Given the description of an element on the screen output the (x, y) to click on. 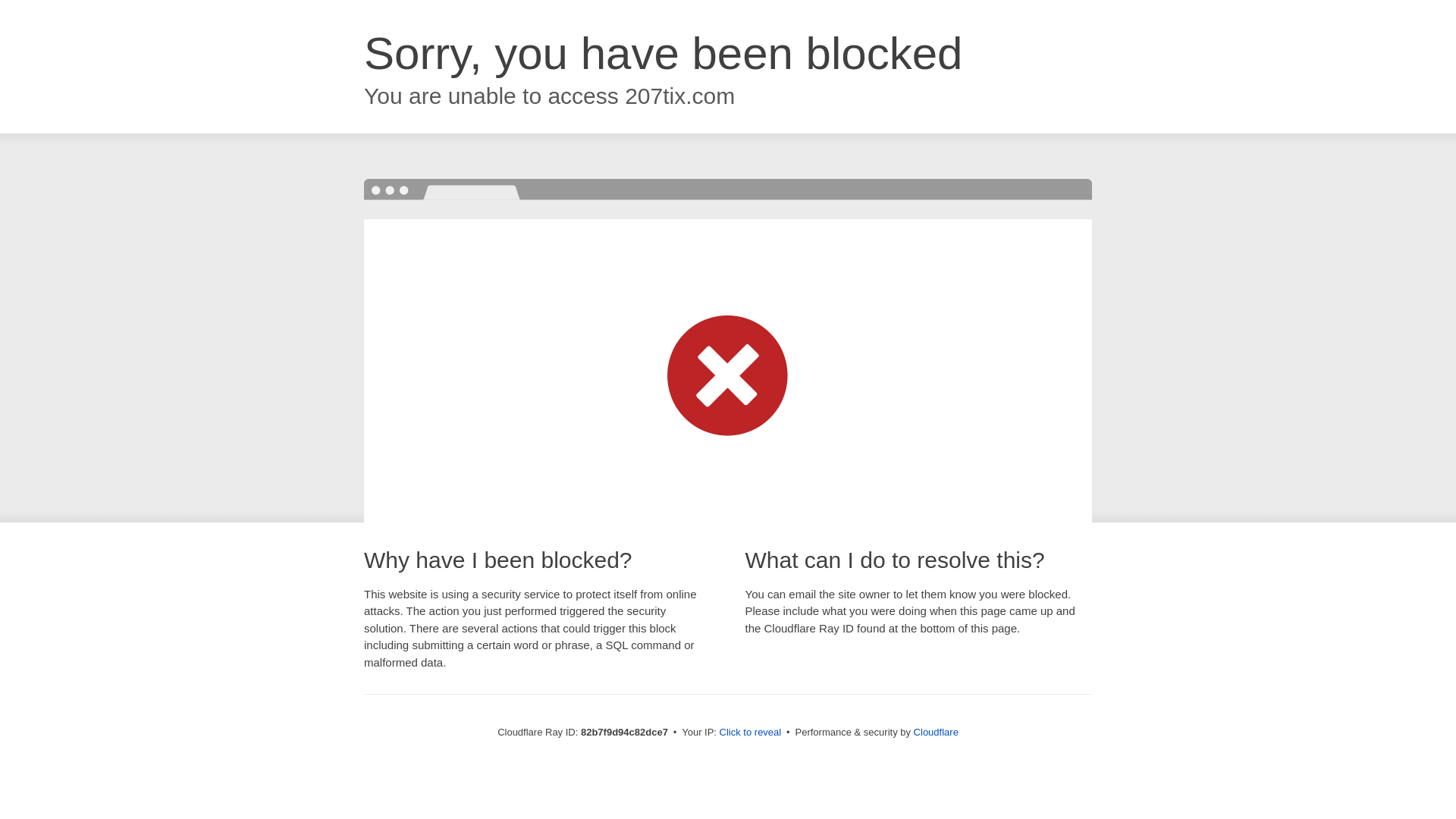
Click to reveal Element type: text (750, 732)
Cloudflare Element type: text (935, 731)
